Given the description of an element on the screen output the (x, y) to click on. 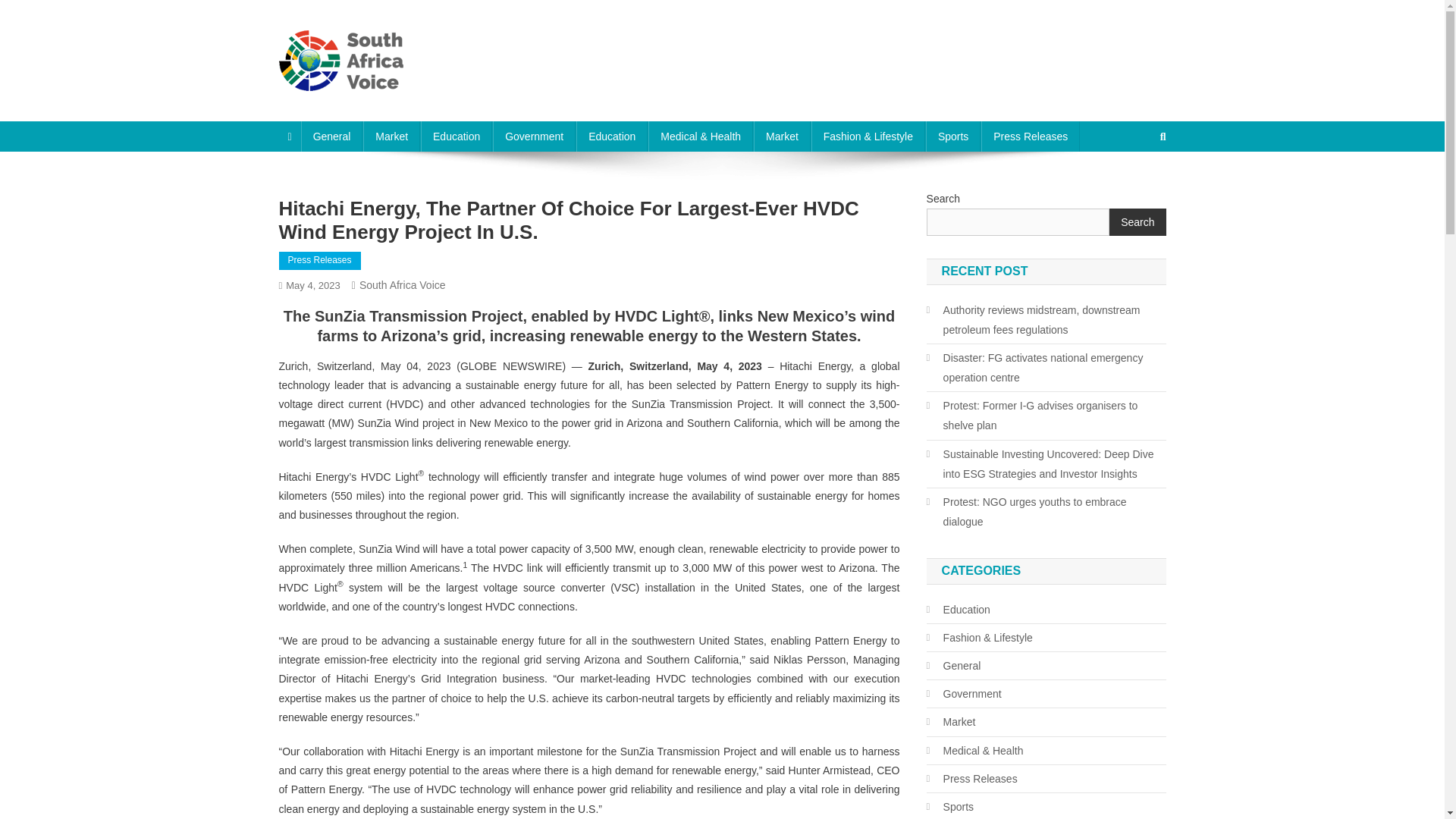
South Africa Voice (402, 285)
Education (611, 136)
Education (456, 136)
General (331, 136)
Press Releases (320, 260)
Government (534, 136)
Search (1133, 186)
South Africa Voice (385, 105)
Market (782, 136)
Market (391, 136)
Sports (952, 136)
May 4, 2023 (312, 285)
Press Releases (1030, 136)
